Given the description of an element on the screen output the (x, y) to click on. 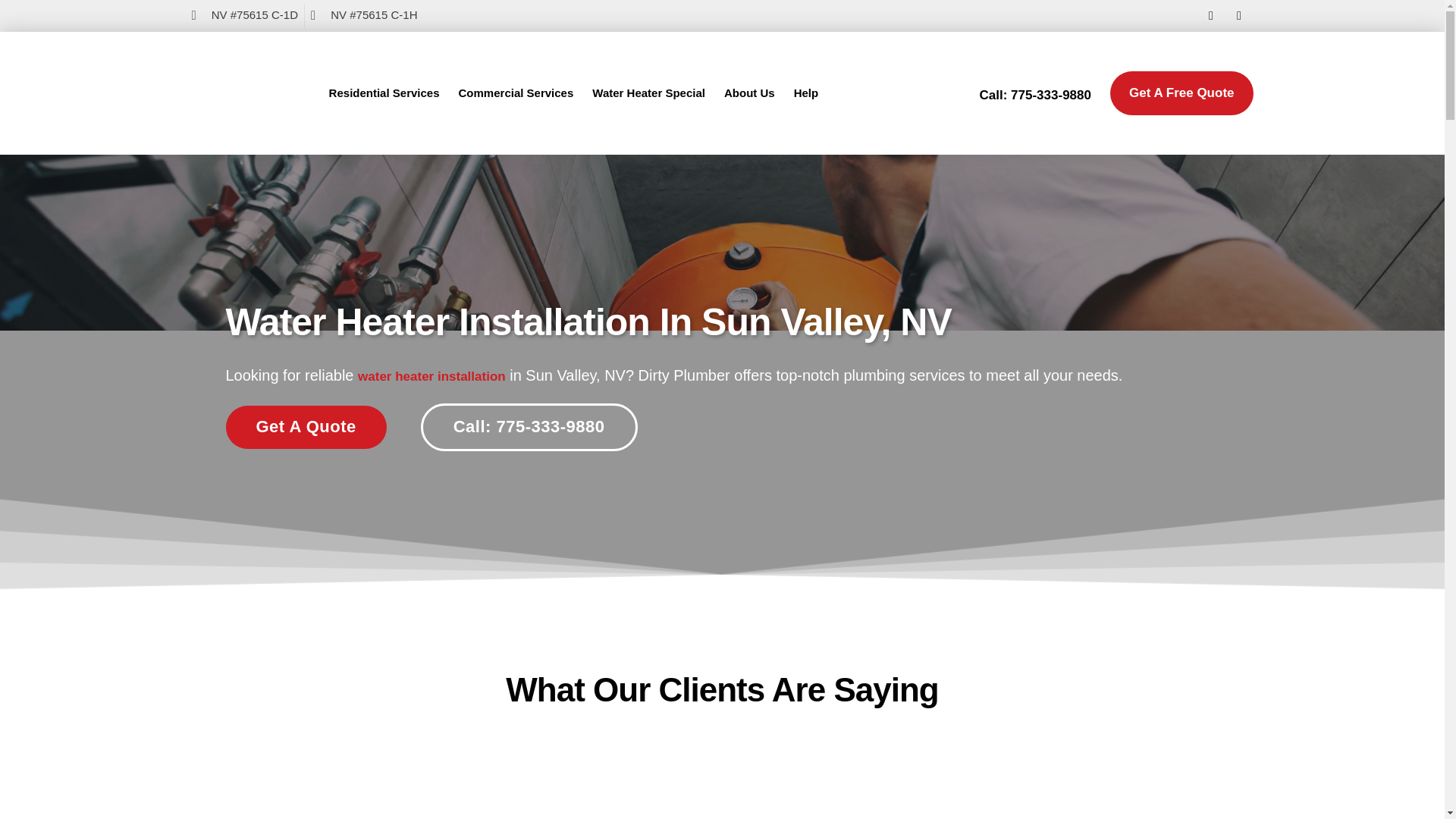
Commercial Services (515, 93)
Residential Water Heater Installation (431, 376)
Water Heater Special (648, 93)
Residential Services (384, 93)
